Given the description of an element on the screen output the (x, y) to click on. 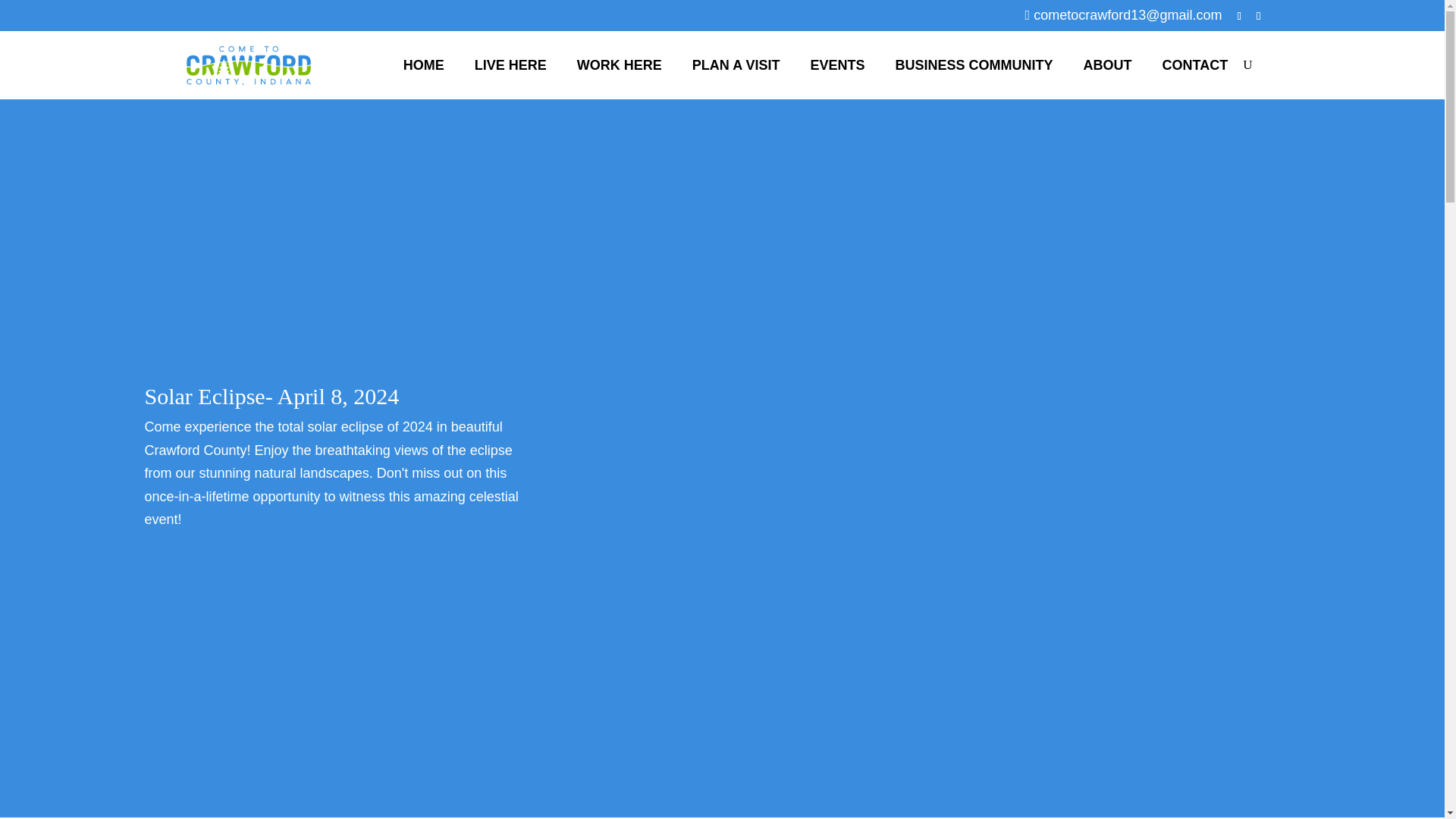
LIVE HERE (511, 64)
ABOUT (1107, 64)
WORK HERE (619, 64)
BUSINESS COMMUNITY (974, 64)
CONTACT (1195, 64)
EVENTS (837, 64)
PLAN A VISIT (735, 64)
HOME (424, 64)
